Given the description of an element on the screen output the (x, y) to click on. 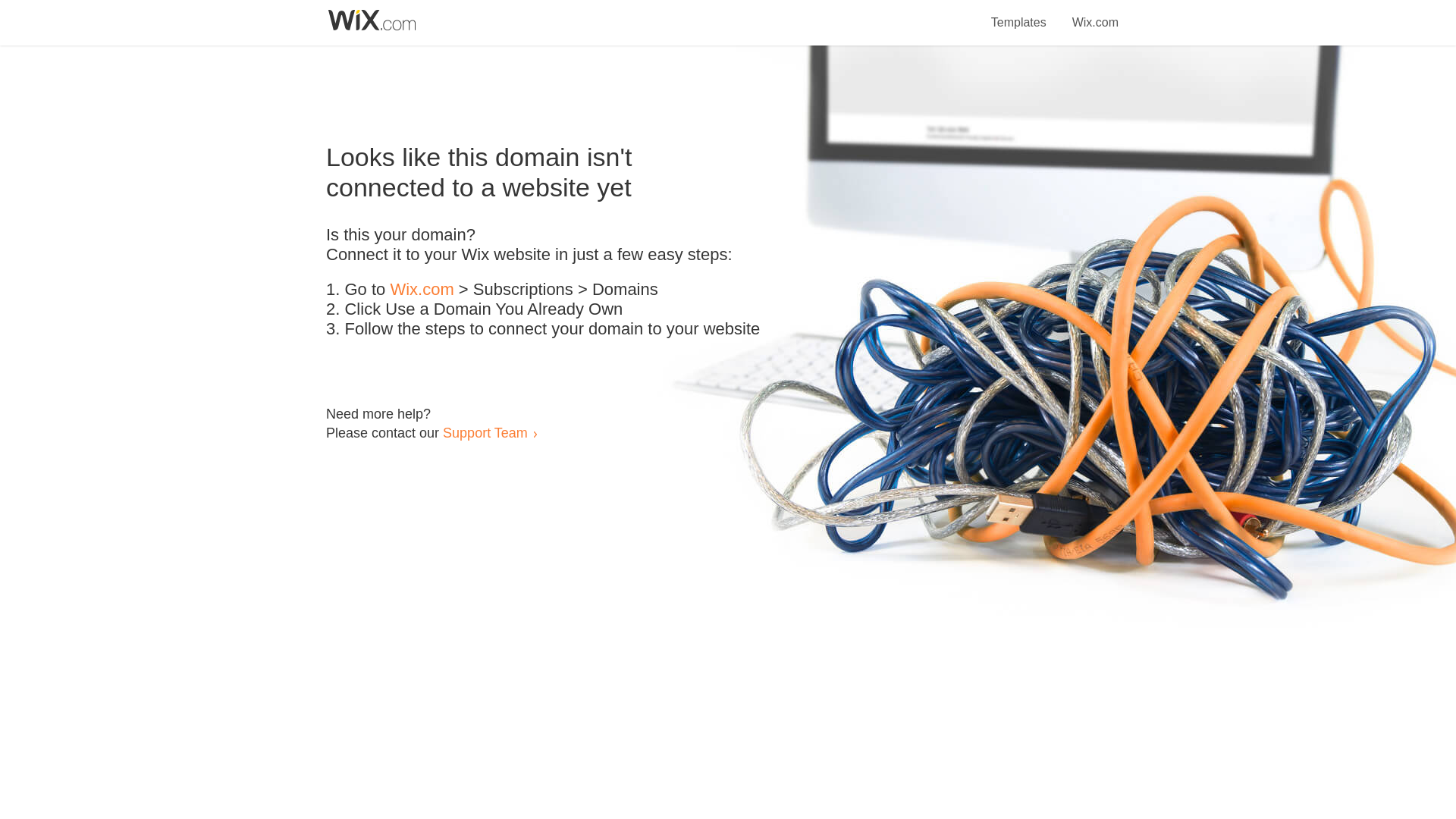
Templates (1018, 14)
Support Team (484, 432)
Wix.com (421, 289)
Wix.com (1095, 14)
